Given the description of an element on the screen output the (x, y) to click on. 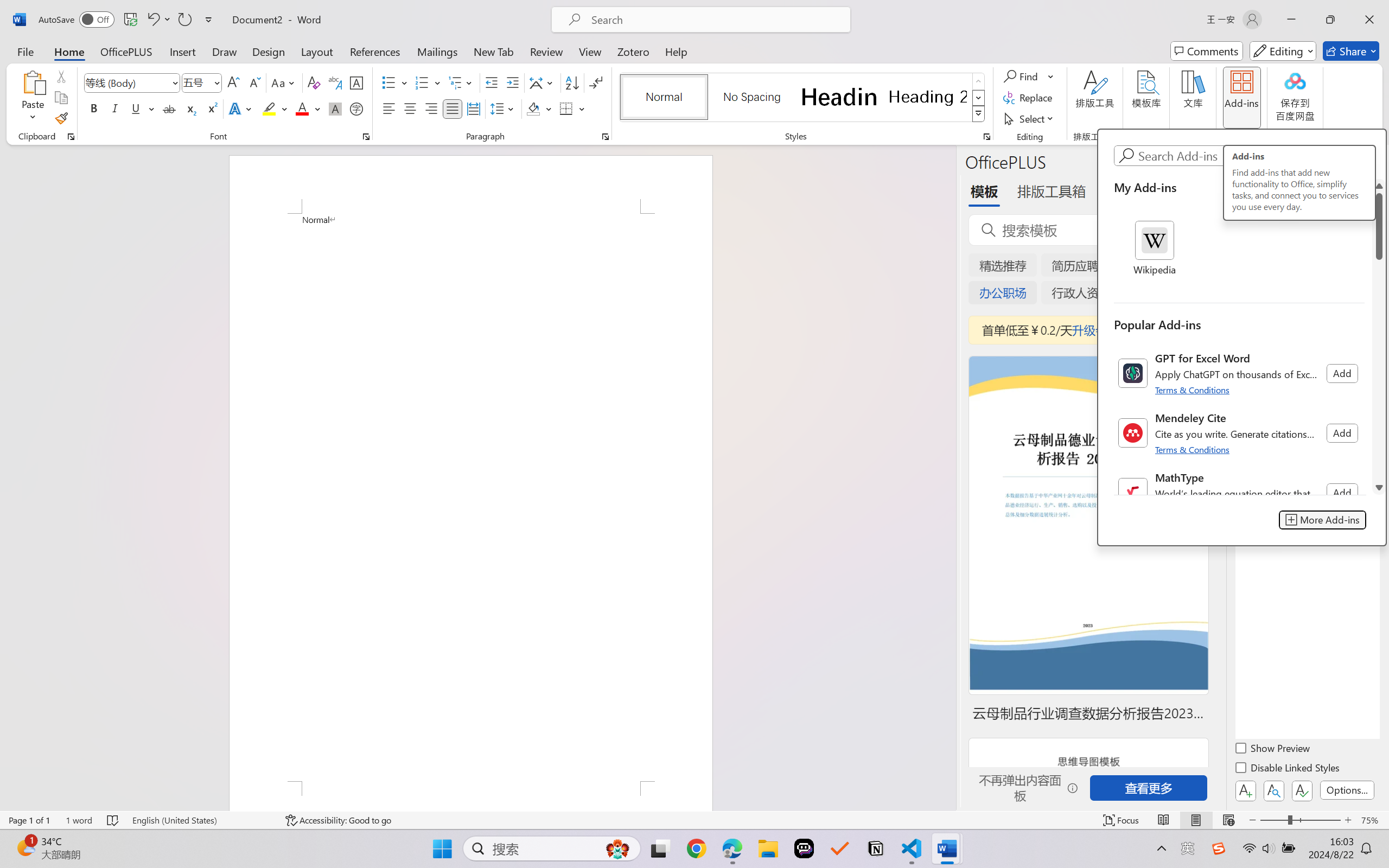
Paste (33, 97)
Show Preview (1273, 749)
More Add-ins (1322, 519)
Italic (115, 108)
Underline (135, 108)
Review (546, 51)
Center (409, 108)
Terms & Conditions (1193, 449)
Styles... (986, 136)
Page 1 content (470, 497)
Mailings (437, 51)
